Given the description of an element on the screen output the (x, y) to click on. 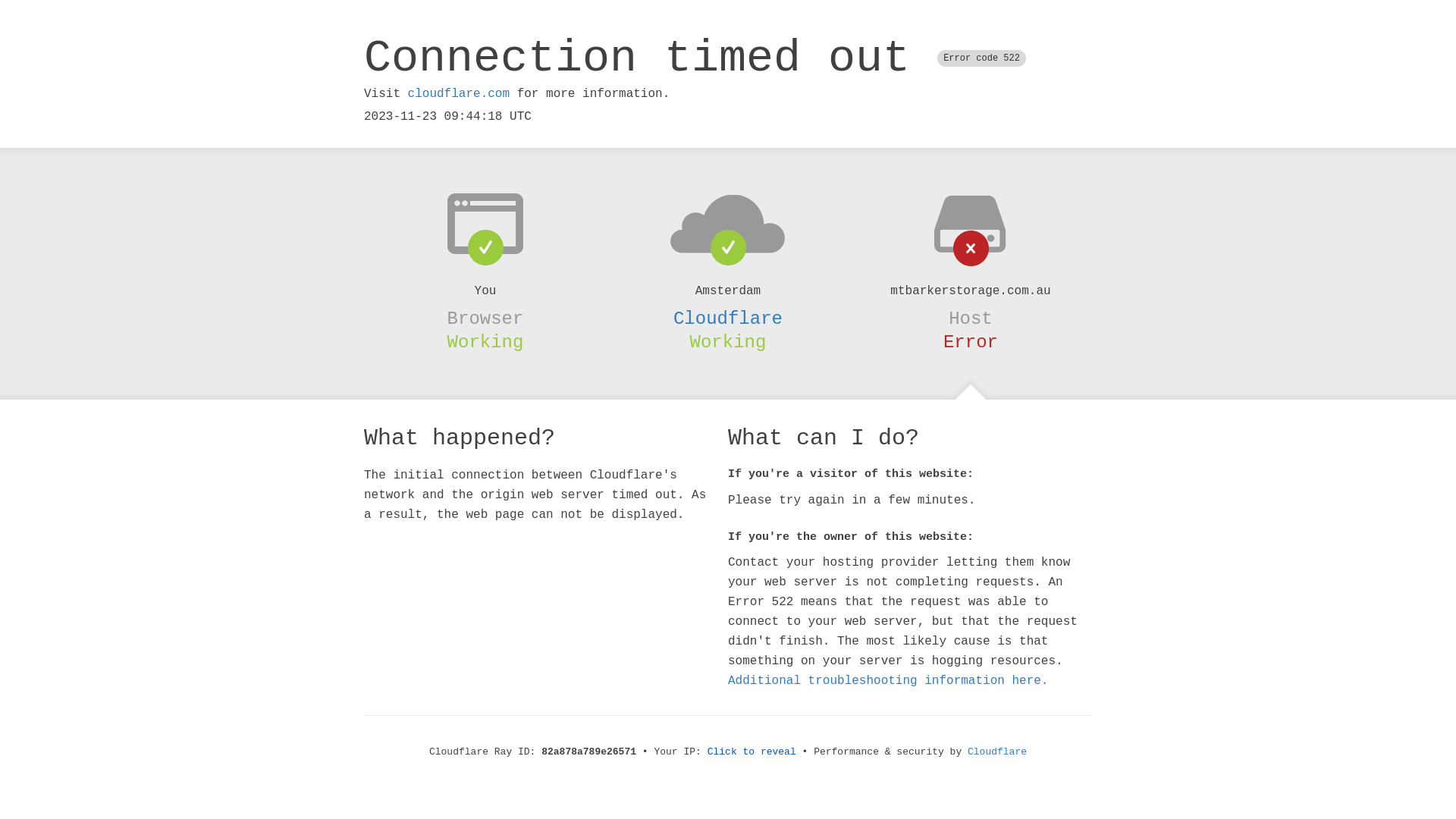
Cloudflare Element type: text (727, 318)
Additional troubleshooting information here. Element type: text (888, 680)
Cloudflare Element type: text (996, 751)
cloudflare.com Element type: text (458, 93)
Click to reveal Element type: text (751, 751)
